Given the description of an element on the screen output the (x, y) to click on. 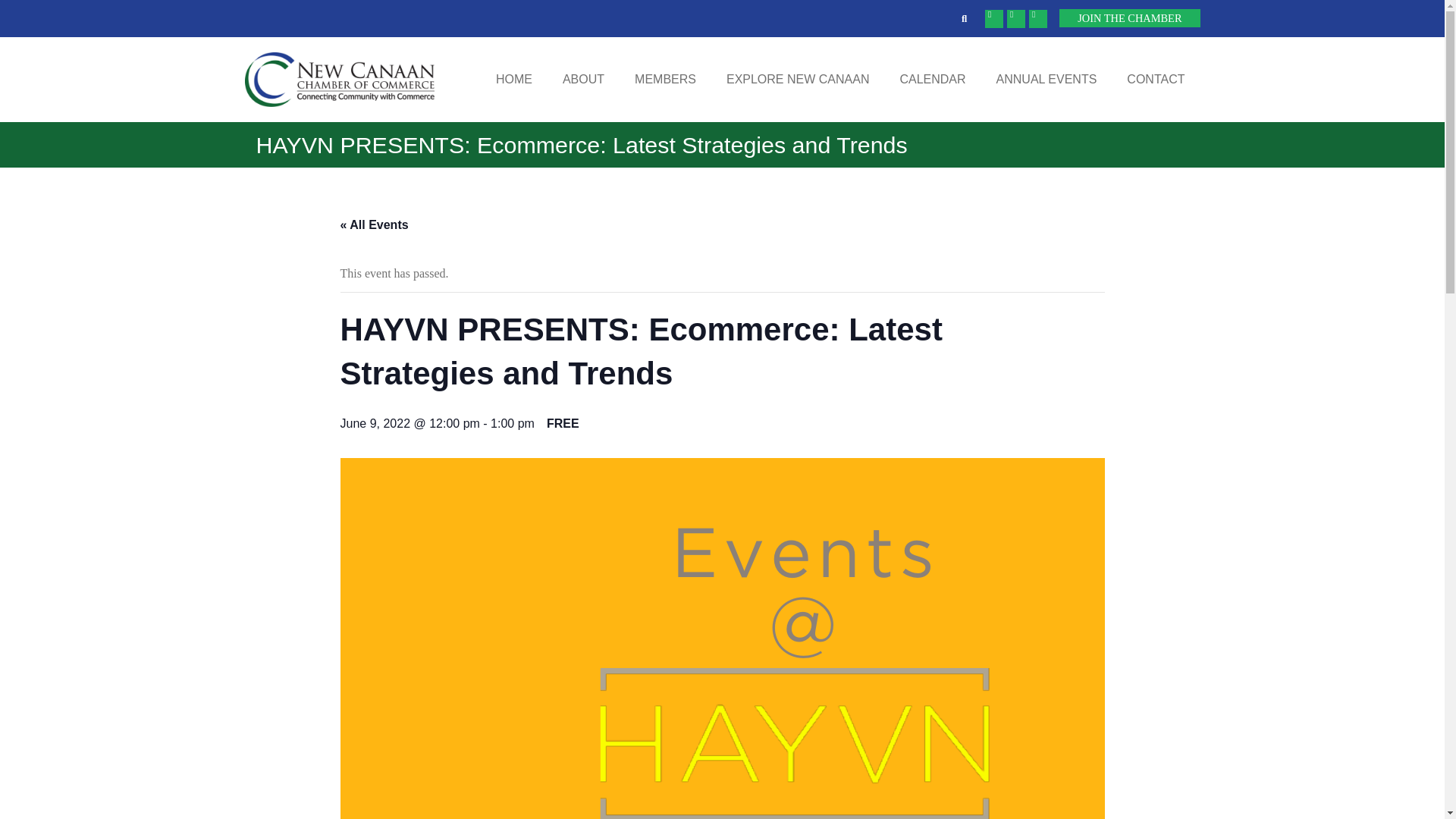
EXPLORE NEW CANAAN (797, 79)
CALENDAR (931, 79)
JOIN THE CHAMBER (1129, 18)
MEMBERS (665, 79)
ABOUT (583, 79)
ANNUAL EVENTS (1046, 79)
CONTACT (1155, 79)
HOME (513, 79)
